Given the description of an element on the screen output the (x, y) to click on. 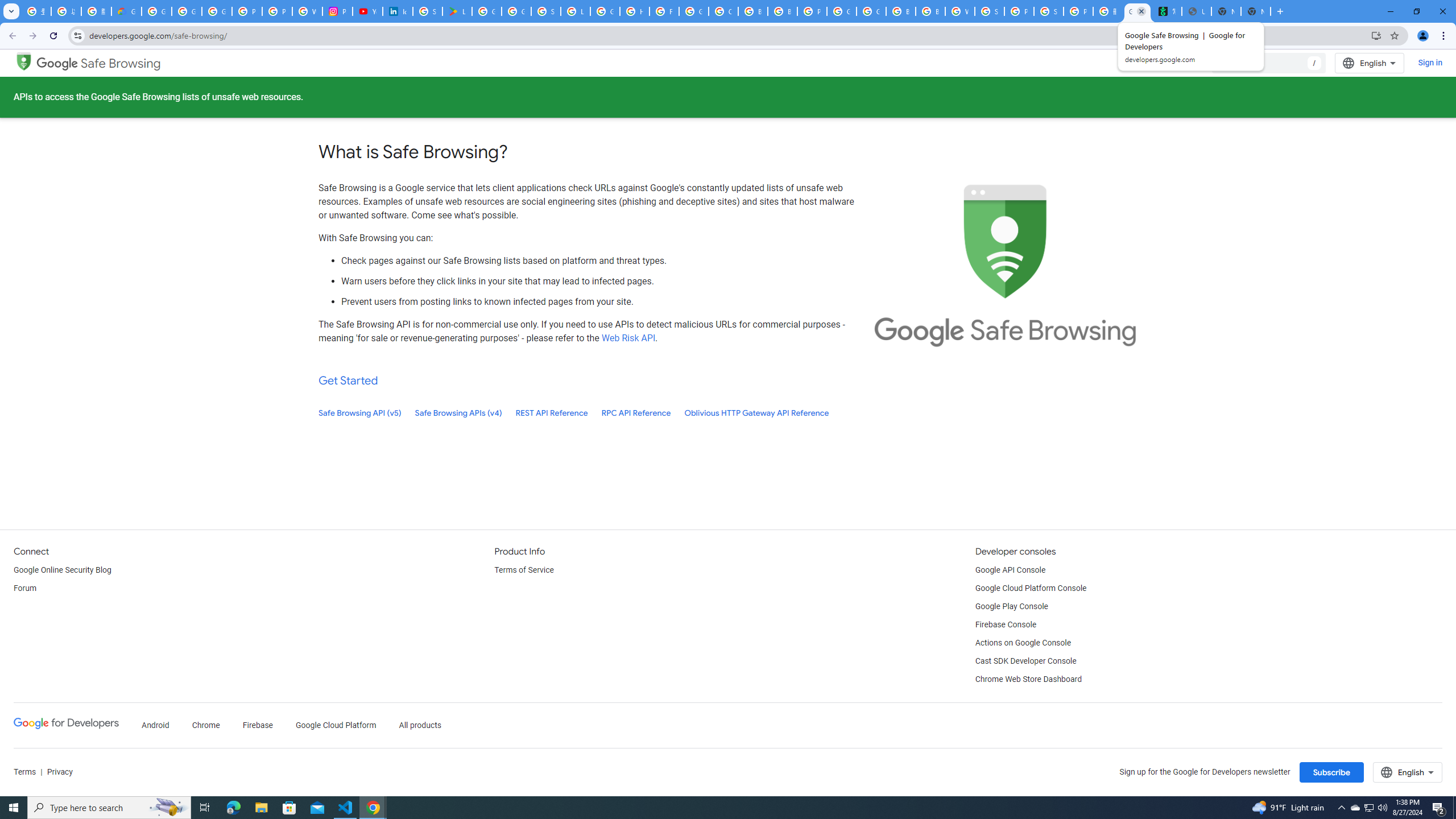
Google Workspace - Specific Terms (515, 11)
Google Safe Browsing (23, 60)
REST API Reference (551, 412)
Google API Console (1010, 570)
Browse Chrome as a guest - Computer - Google Chrome Help (782, 11)
